Given the description of an element on the screen output the (x, y) to click on. 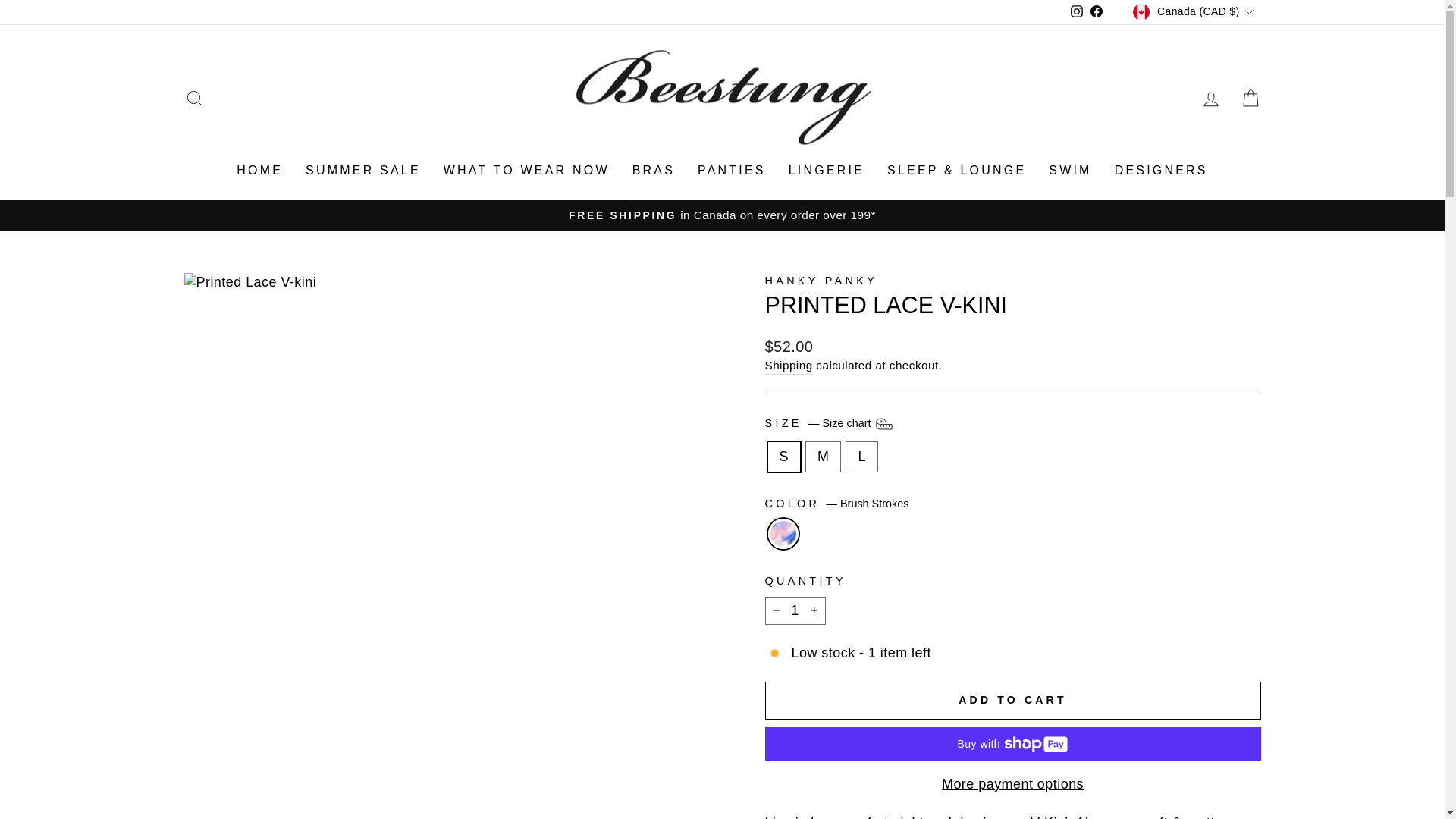
Beestung Lingerie on Instagram (1076, 11)
Beestung Lingerie on Facebook (1096, 11)
1 (794, 610)
